Given the description of an element on the screen output the (x, y) to click on. 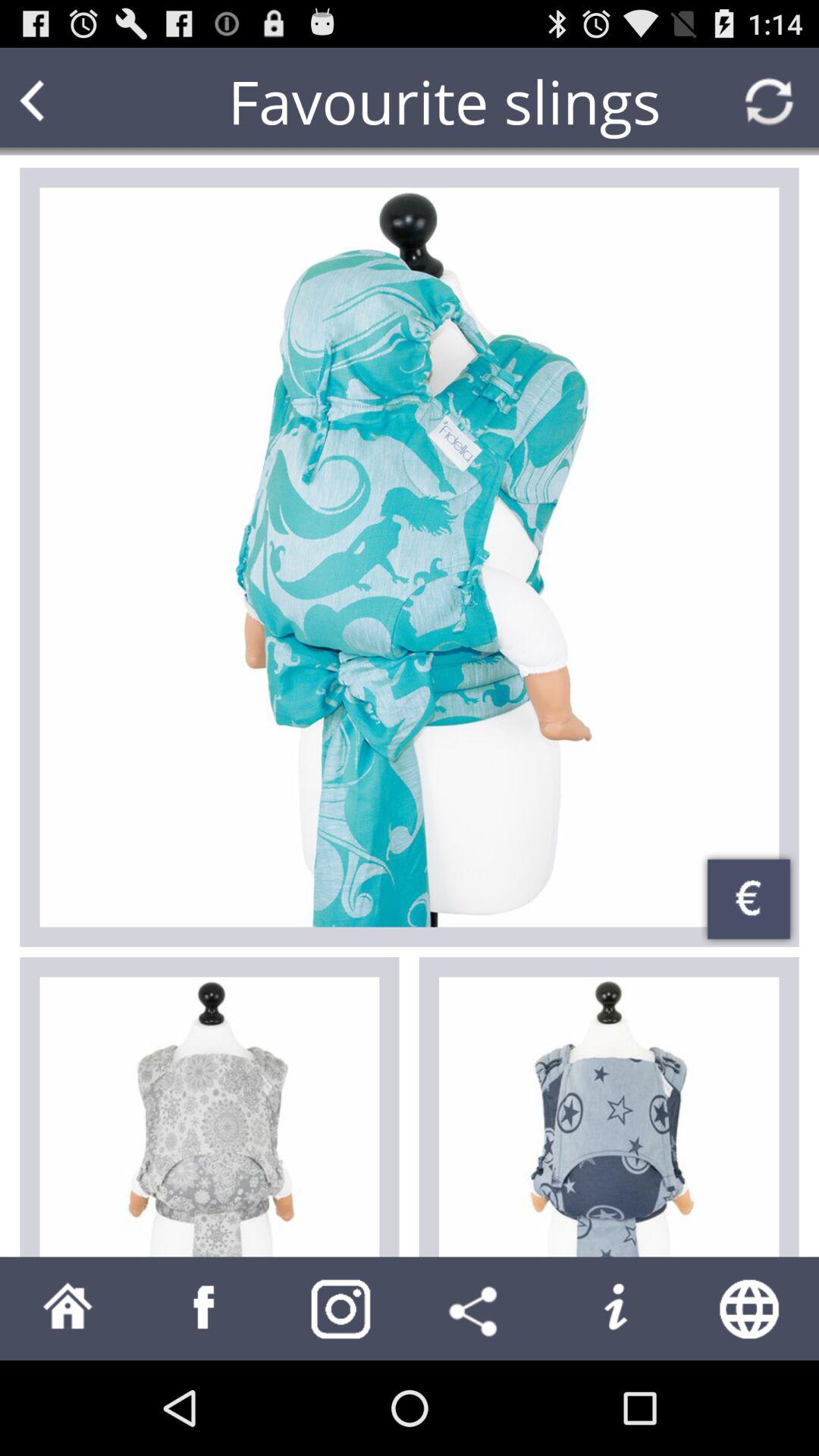
turn on the icon at the top left corner (61, 101)
